Given the description of an element on the screen output the (x, y) to click on. 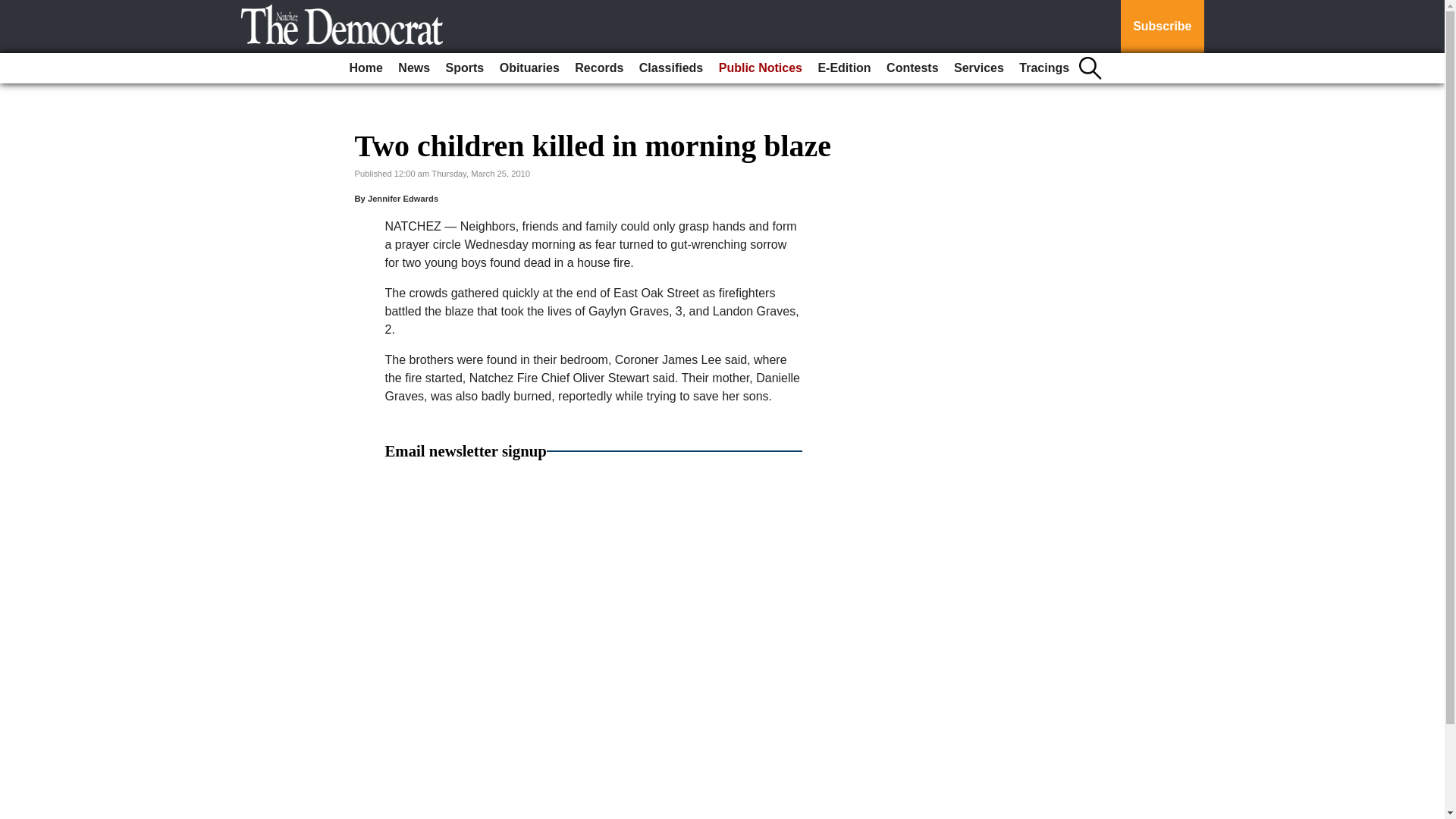
Obituaries (529, 68)
Go (13, 9)
Contests (911, 68)
Home (365, 68)
Public Notices (760, 68)
Tracings (1044, 68)
Subscribe (1162, 26)
Classifieds (671, 68)
E-Edition (843, 68)
Services (978, 68)
